Given the description of an element on the screen output the (x, y) to click on. 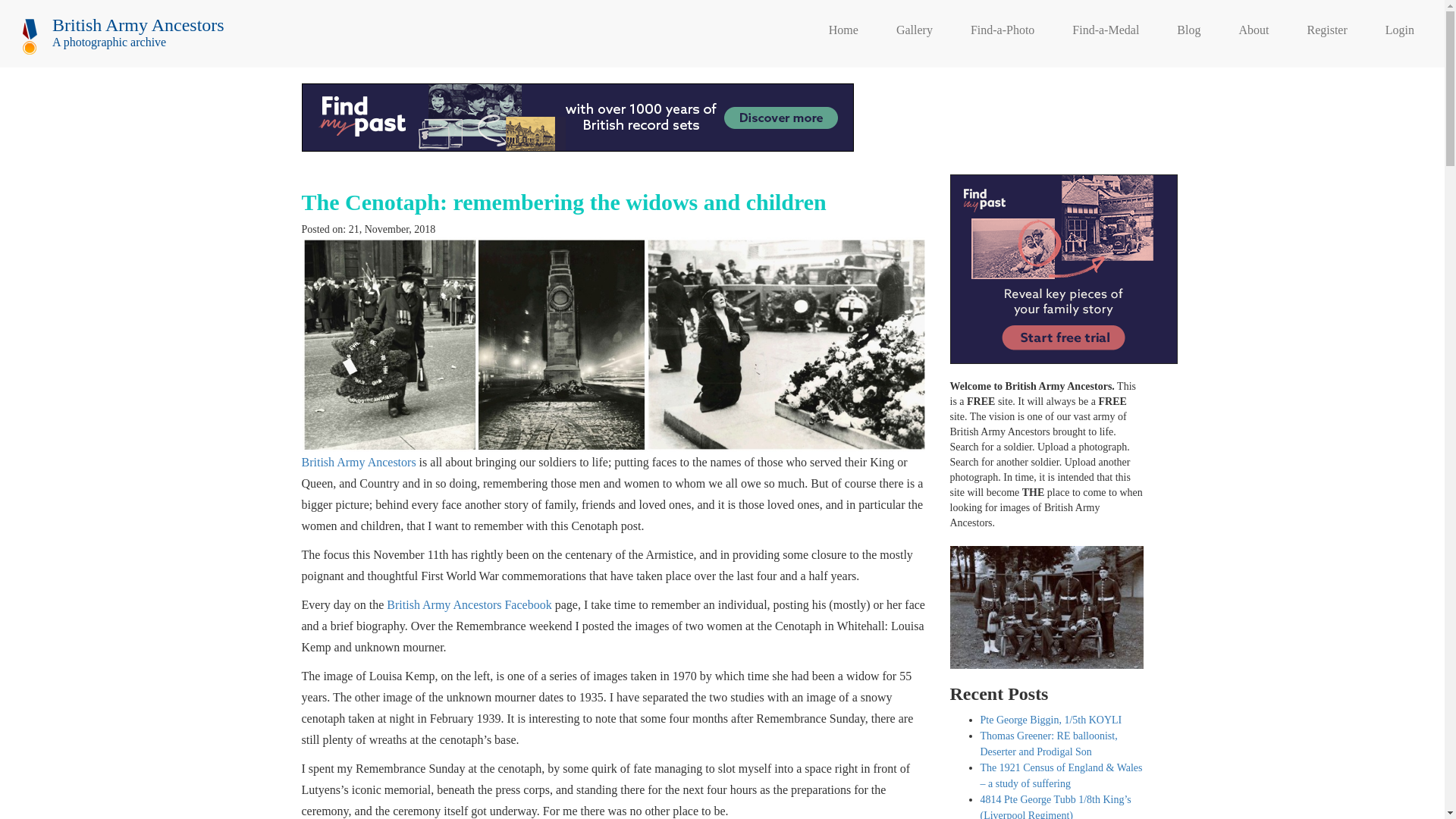
Blog (1188, 33)
Login (1399, 33)
A photographic archive (101, 42)
Find-a-Medal (1104, 33)
British Army Ancestors Facebook (469, 604)
British Army Ancestors (130, 21)
British Army Ancestors (358, 461)
Register (1326, 33)
Thomas Greener: RE balloonist, Deserter and Prodigal Son (1047, 743)
Find-a-Photo (1002, 33)
About (1253, 33)
Home (843, 33)
Gallery (914, 33)
